Given the description of an element on the screen output the (x, y) to click on. 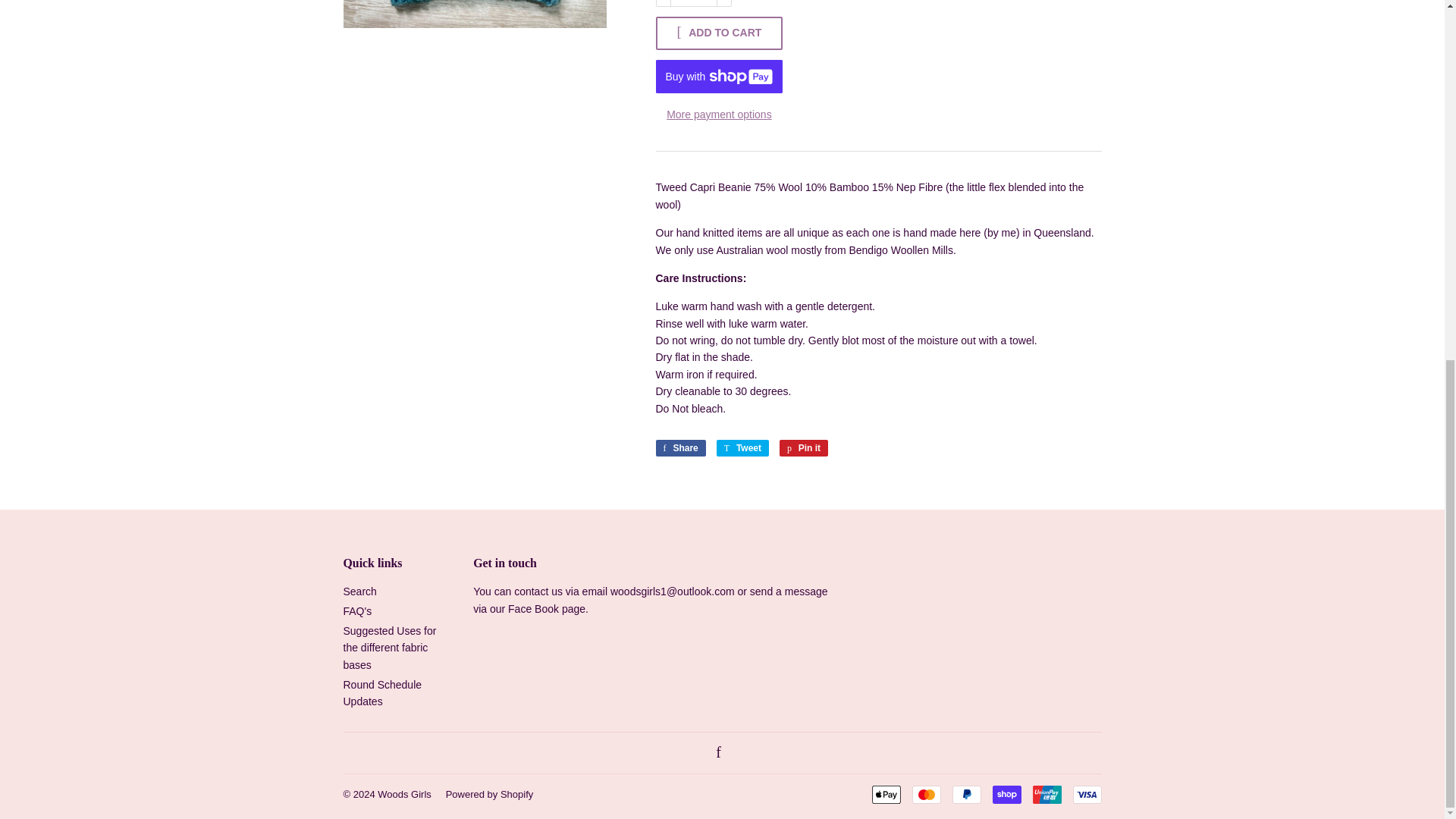
Apple Pay (886, 794)
Share on Facebook (679, 447)
1 (692, 3)
Pin on Pinterest (803, 447)
Union Pay (1046, 794)
PayPal (966, 794)
Shop Pay (1005, 794)
Tweet on Twitter (742, 447)
Visa (1085, 794)
Mastercard (925, 794)
